Given the description of an element on the screen output the (x, y) to click on. 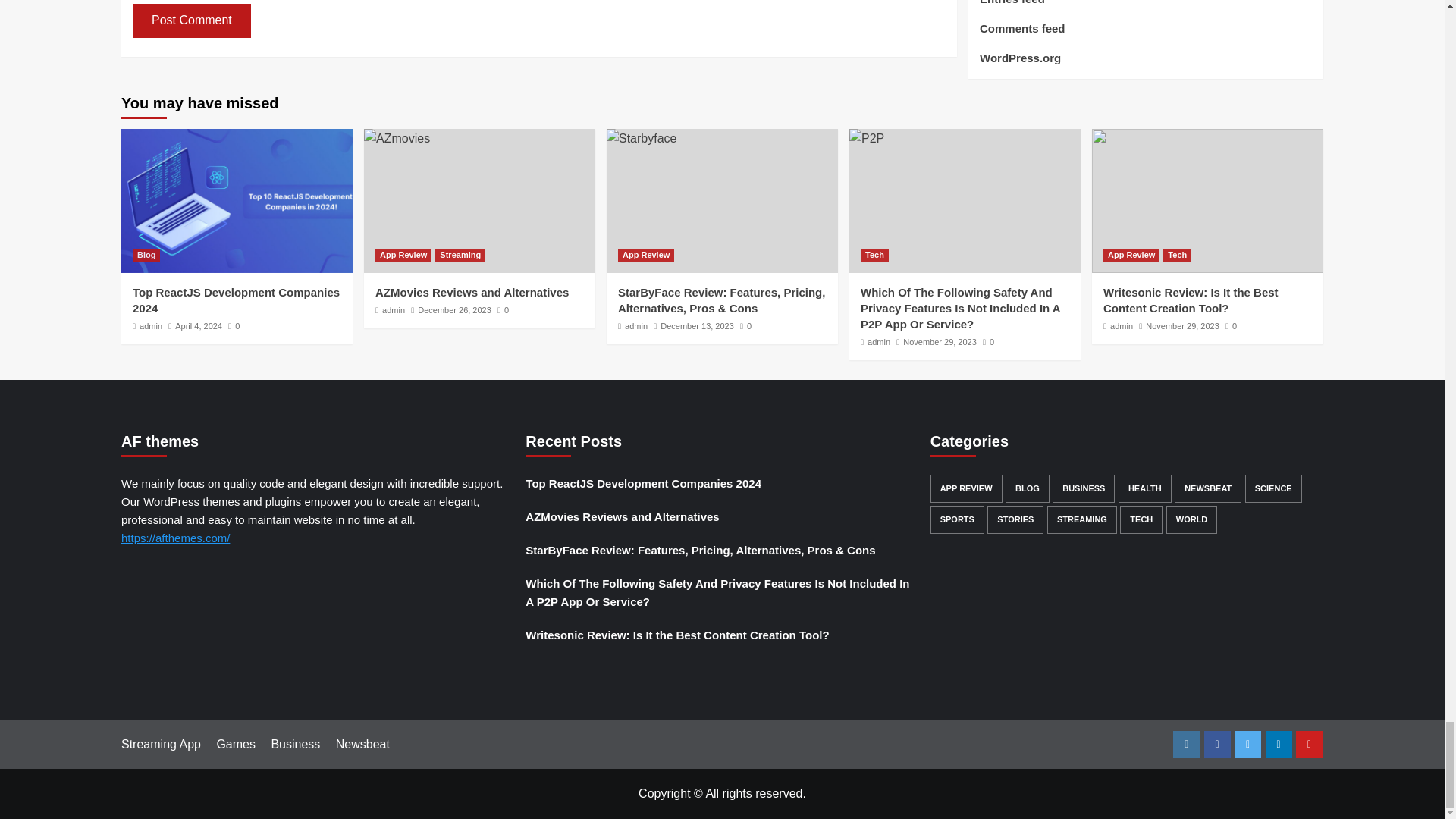
Post Comment (191, 20)
Post Comment (191, 20)
